Given the description of an element on the screen output the (x, y) to click on. 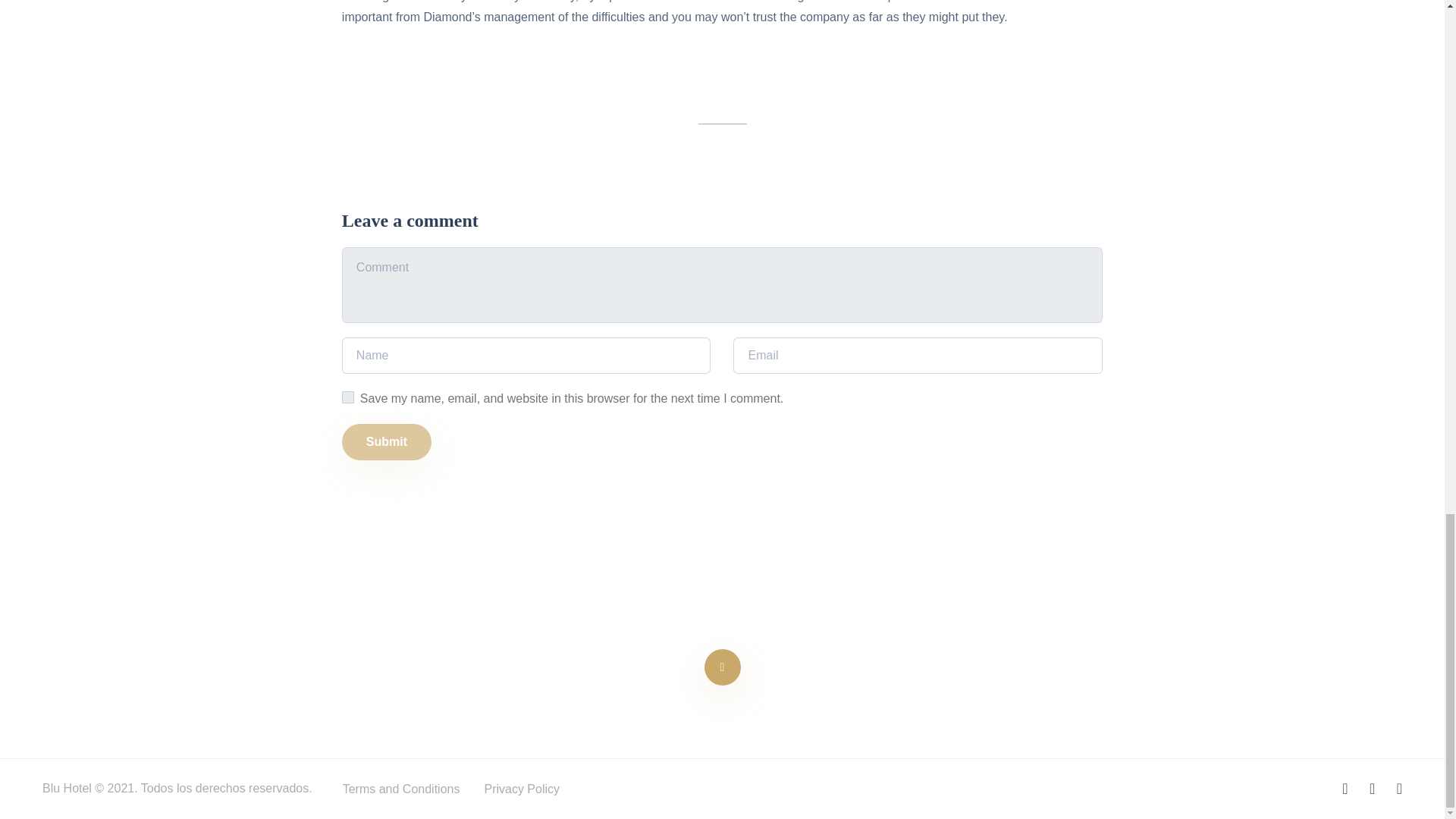
Submit (386, 442)
Terms and Conditions (401, 789)
Privacy Policy (521, 789)
